Given the description of an element on the screen output the (x, y) to click on. 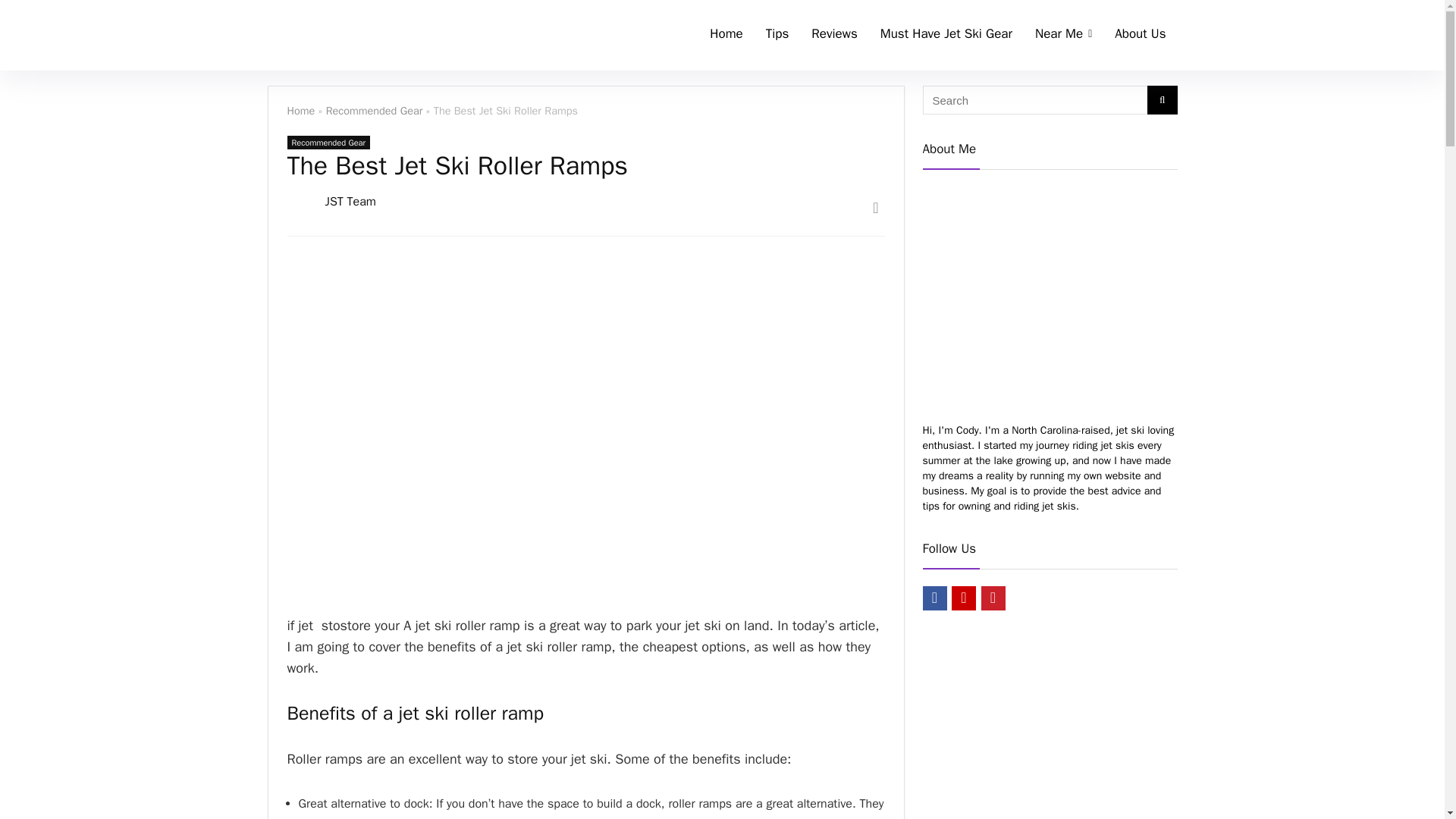
Near Me (1063, 35)
Recommended Gear (374, 110)
Must Have Jet Ski Gear (946, 35)
Home (726, 35)
Tips (777, 35)
Reviews (833, 35)
JST Team (349, 201)
View all posts in Recommended Gear (327, 142)
Recommended Gear (327, 142)
Home (300, 110)
About Us (1139, 35)
